Given the description of an element on the screen output the (x, y) to click on. 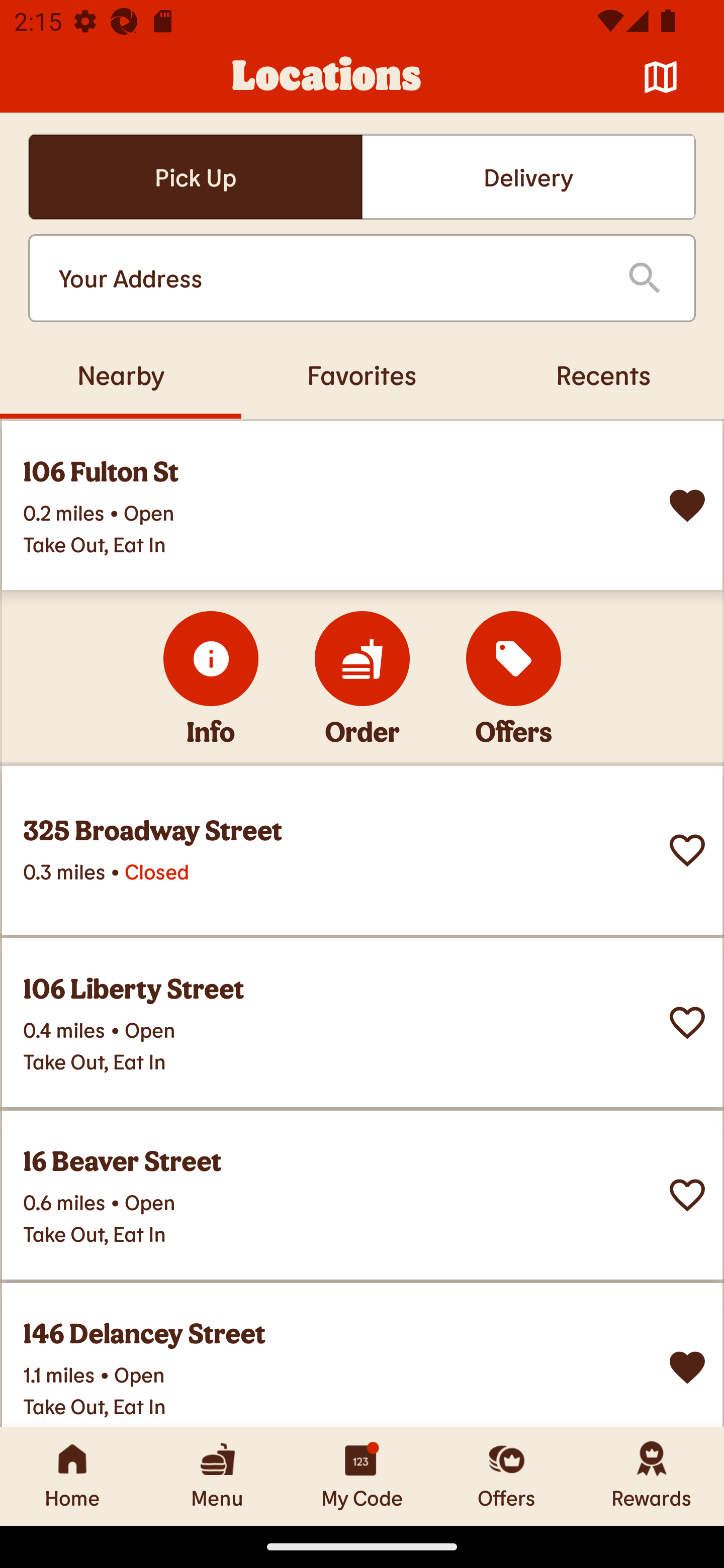
Map 󰦂 (660, 77)
Locations (326, 77)
Pick UpSelected Pick UpSelected Pick Up (195, 176)
Delivery Delivery Delivery (528, 176)
Your Address (327, 277)
Nearby (120, 374)
Favorites (361, 374)
Recents (603, 374)
Remove from Favorites?  (687, 505)
Info  (210, 658)
Order (361, 658)
Offers  (513, 658)
Set this restaurant as a favorite  (687, 850)
Set this restaurant as a favorite  (687, 1022)
Set this restaurant as a favorite  (687, 1195)
Remove from Favorites?  (687, 1367)
Home (72, 1475)
Menu (216, 1475)
My Code (361, 1475)
Offers (506, 1475)
Rewards (651, 1475)
